Given the description of an element on the screen output the (x, y) to click on. 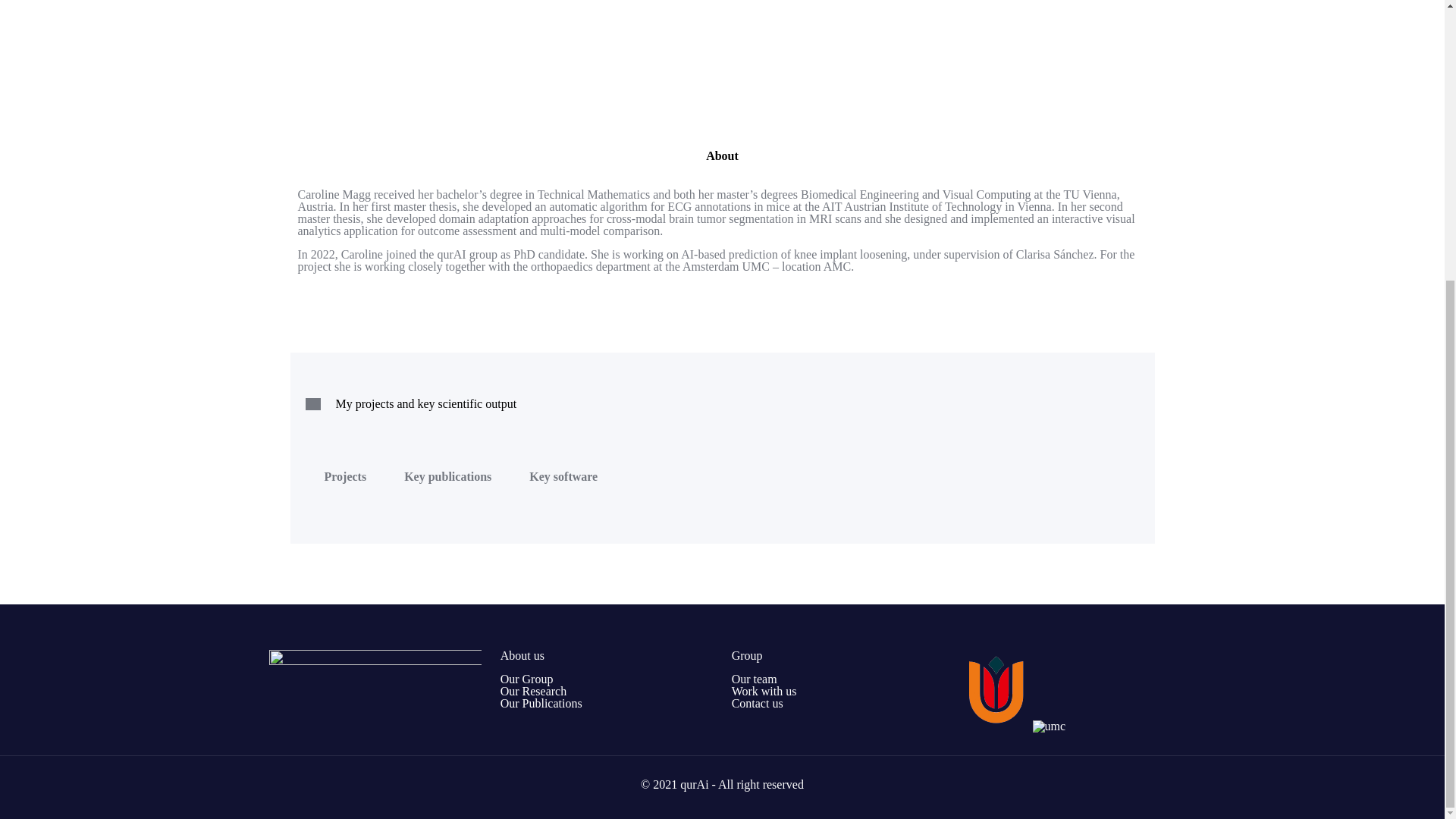
Our Research (533, 690)
Work with us (764, 690)
Our team (754, 678)
umc (995, 725)
uva (1048, 725)
Key publications (448, 476)
Contact us (757, 703)
Projects (345, 476)
Our Group (526, 678)
Key software (562, 476)
Our Publications (541, 703)
